Given the description of an element on the screen output the (x, y) to click on. 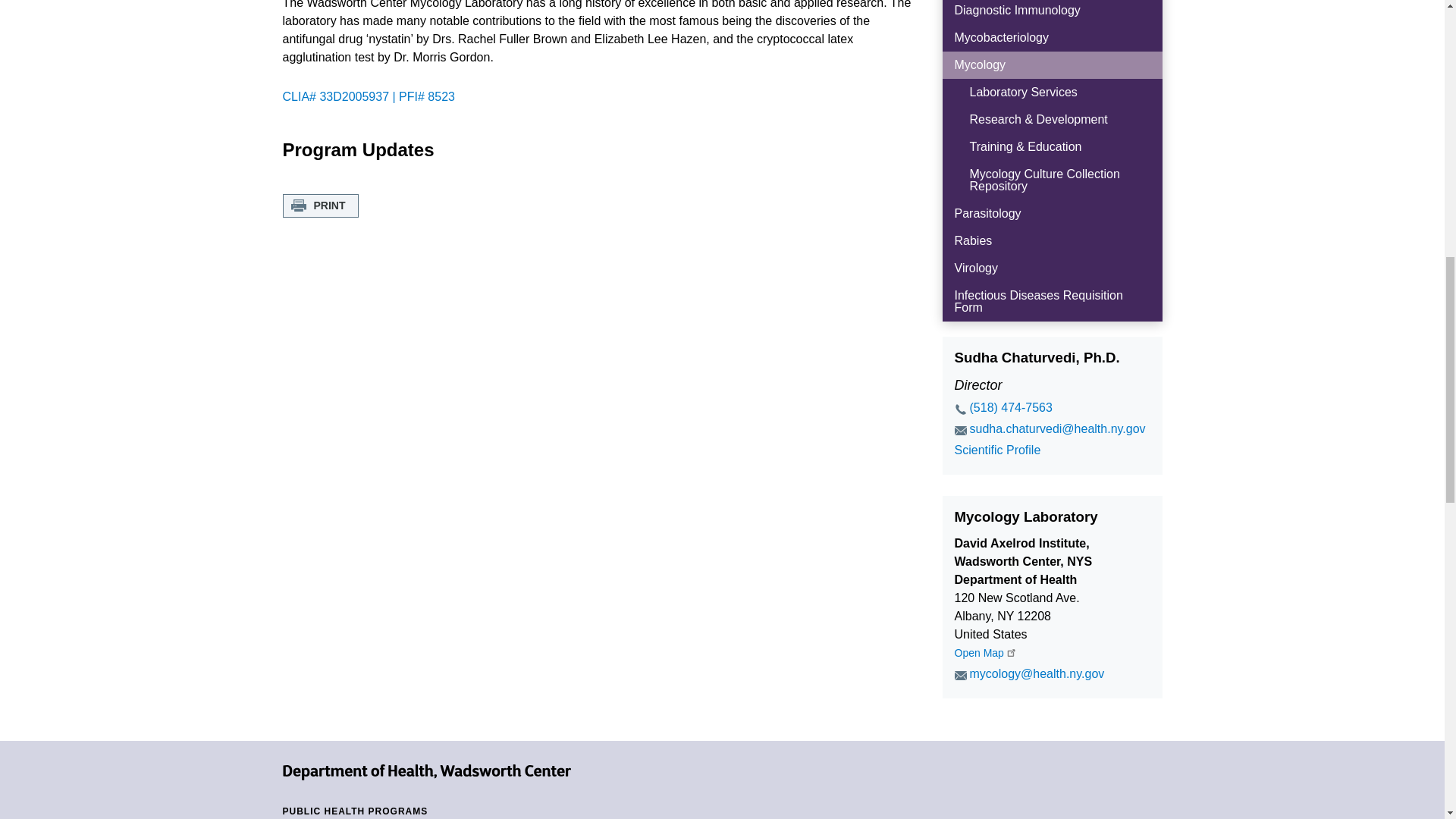
Home (426, 771)
